Given the description of an element on the screen output the (x, y) to click on. 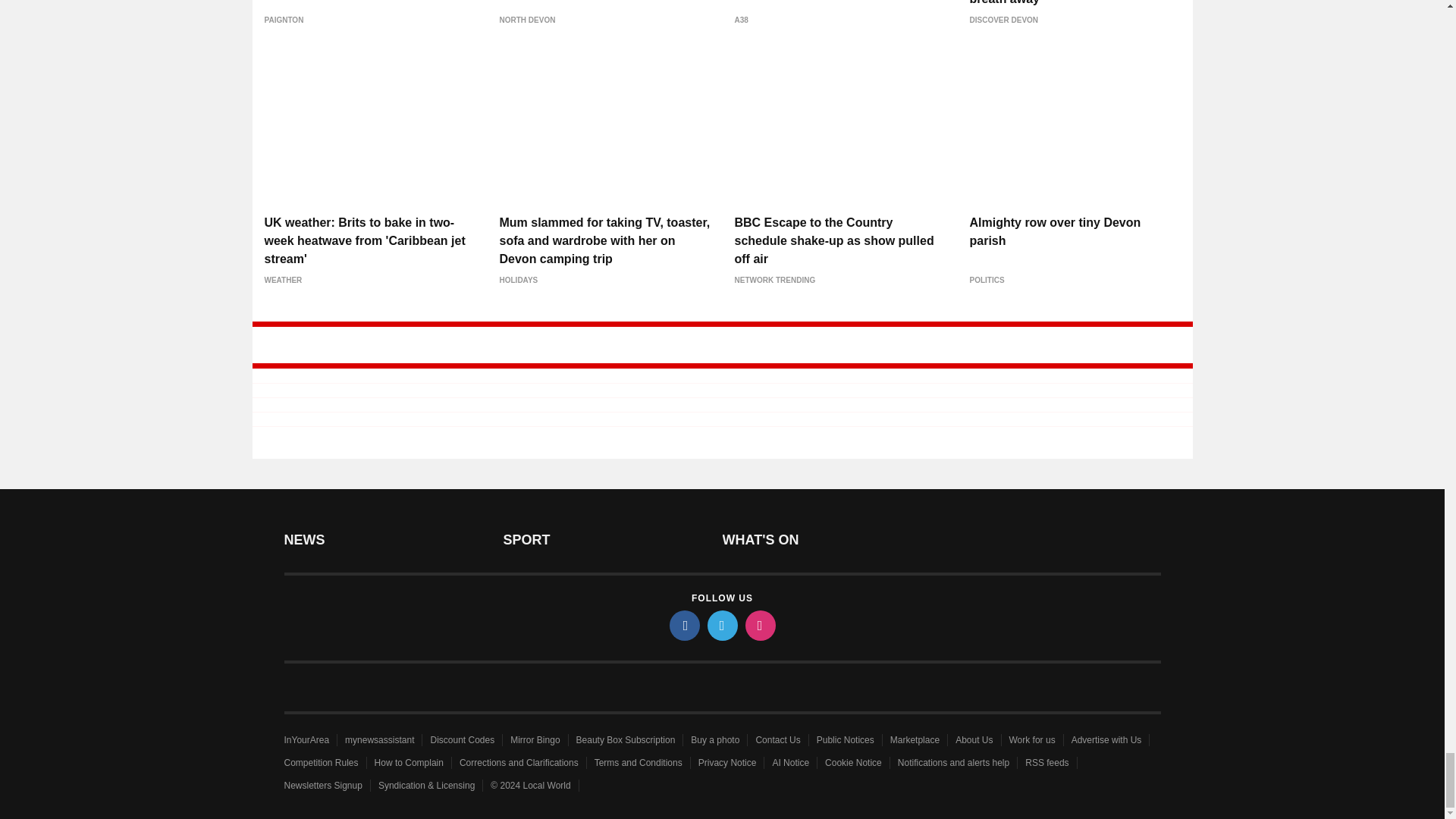
instagram (759, 625)
twitter (721, 625)
facebook (683, 625)
